Given the description of an element on the screen output the (x, y) to click on. 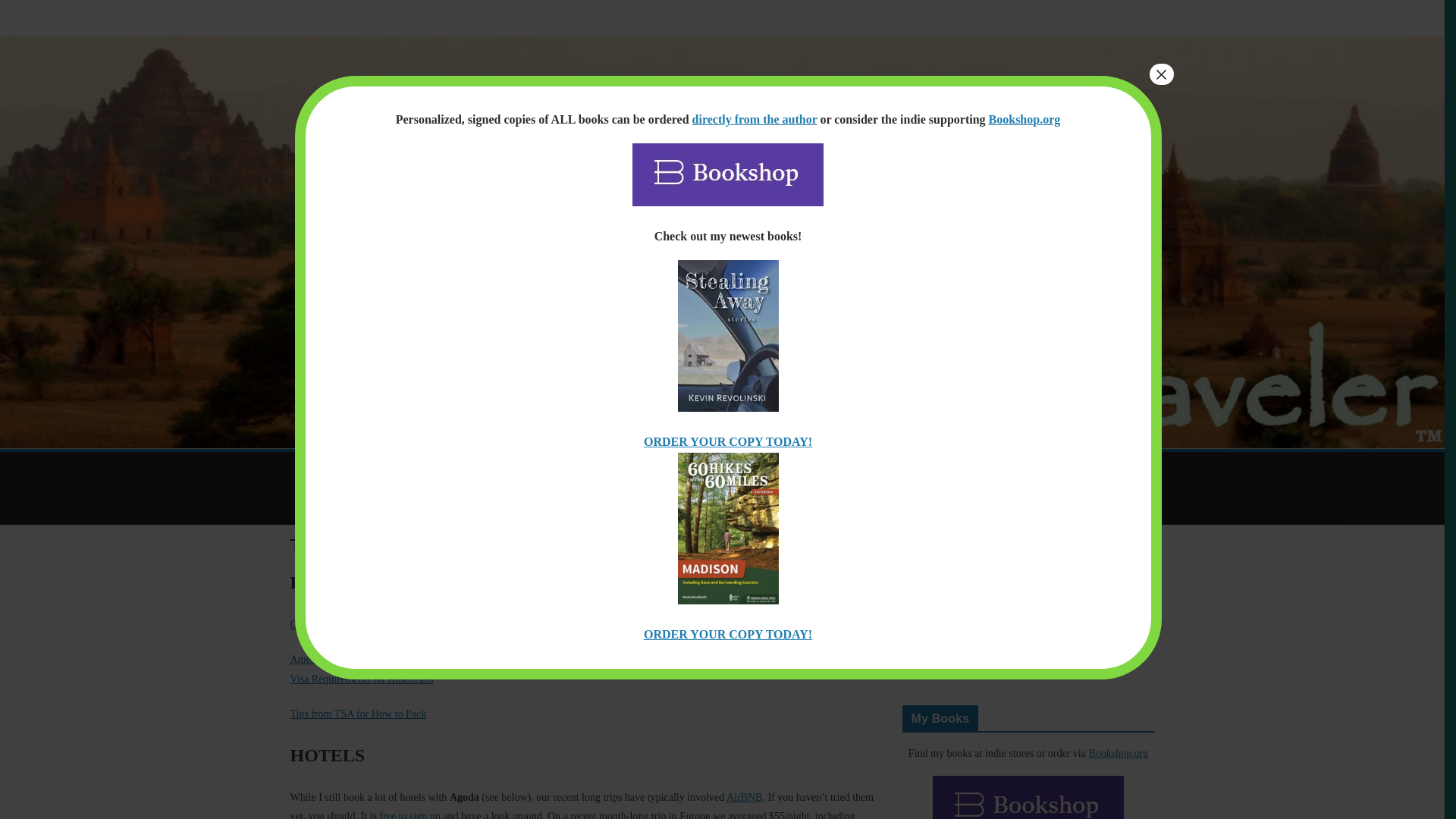
BOOKS (614, 469)
Currency Converter (331, 624)
Tips from TSA for How to Pack (357, 713)
free to sign up (408, 814)
VIDEOS (830, 469)
EVENTS (679, 469)
BEER (315, 506)
TRIP PLANNER (532, 469)
BLOG (453, 469)
AirBNB (743, 797)
CONTACT (1056, 469)
ABOUT (988, 469)
TRAVEL TIPS (909, 469)
GALLERIES (756, 469)
